Given the description of an element on the screen output the (x, y) to click on. 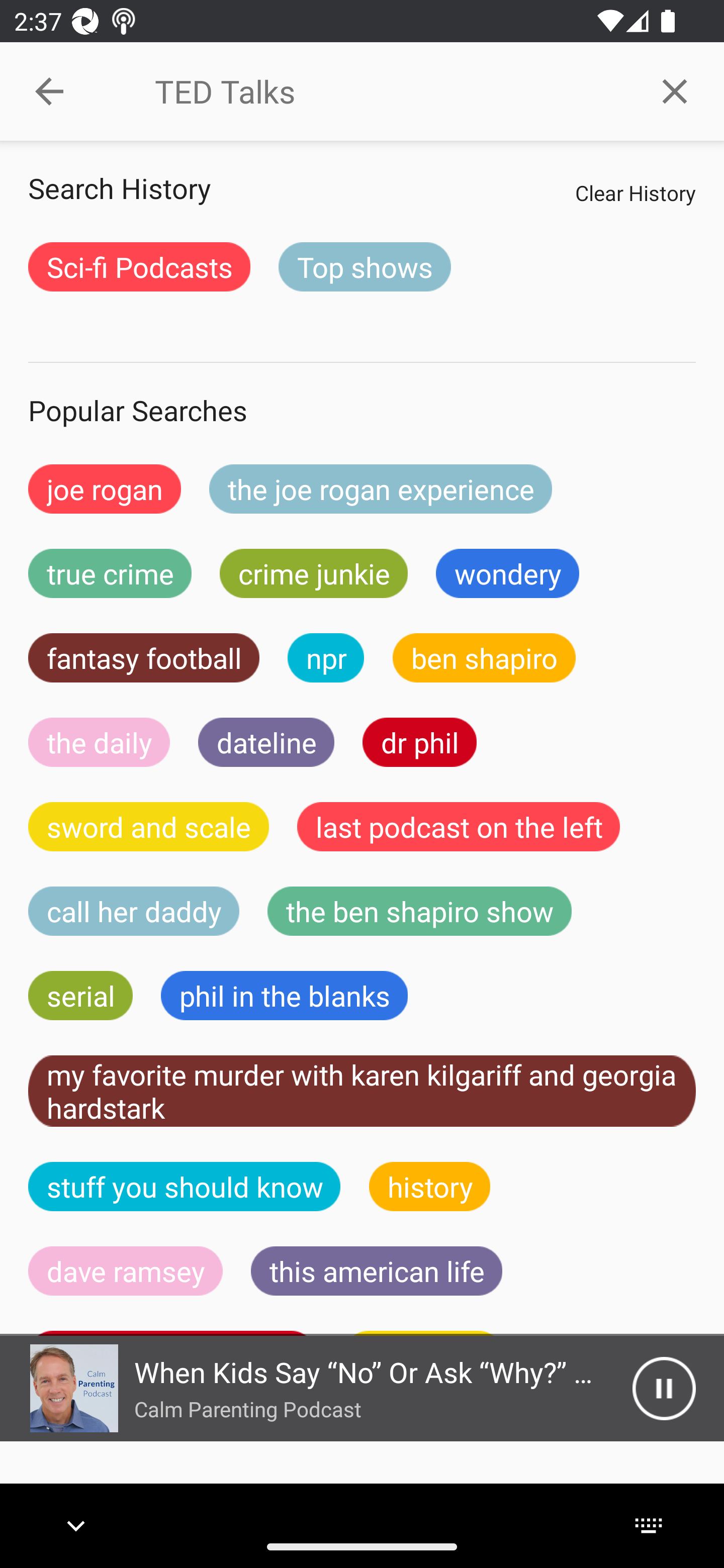
Collapse (49, 91)
Clear query (674, 90)
TED Talks (389, 91)
Clear History (634, 192)
Sci-fi Podcasts (139, 266)
Top shows (364, 266)
joe rogan (104, 489)
the joe rogan experience (380, 489)
true crime (109, 572)
crime junkie (313, 572)
wondery (507, 572)
fantasy football (143, 657)
npr (325, 657)
ben shapiro (483, 657)
the daily (99, 742)
dateline (266, 742)
dr phil (419, 742)
sword and scale (148, 826)
last podcast on the left (458, 826)
call her daddy (133, 910)
the ben shapiro show (419, 910)
serial (80, 995)
phil in the blanks (283, 995)
stuff you should know (184, 1185)
history (429, 1185)
dave ramsey (125, 1270)
this american life (376, 1270)
Pause (663, 1388)
